Given the description of an element on the screen output the (x, y) to click on. 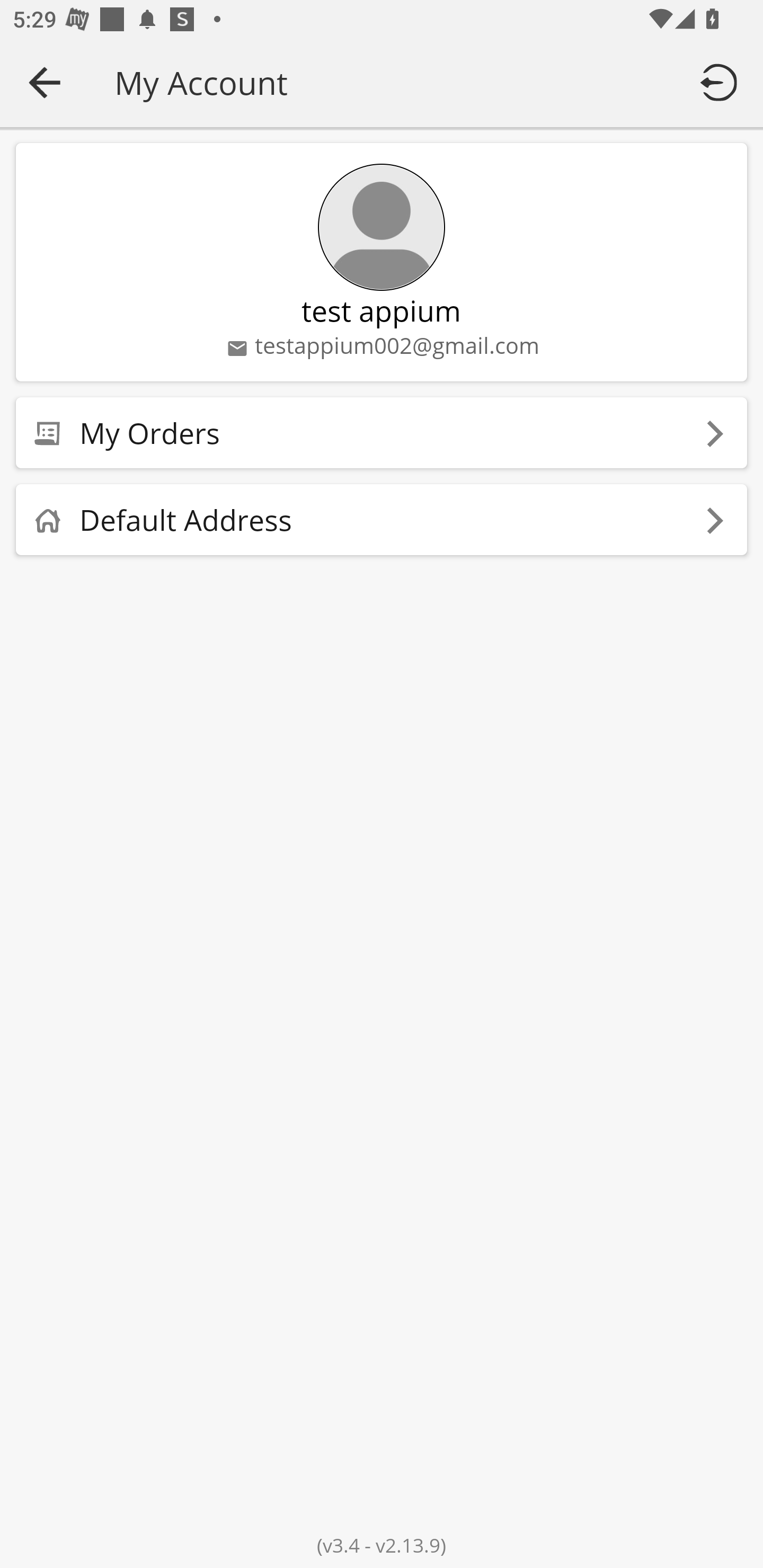
Navigate up (44, 82)
LOGOUT (721, 81)
